Given the description of an element on the screen output the (x, y) to click on. 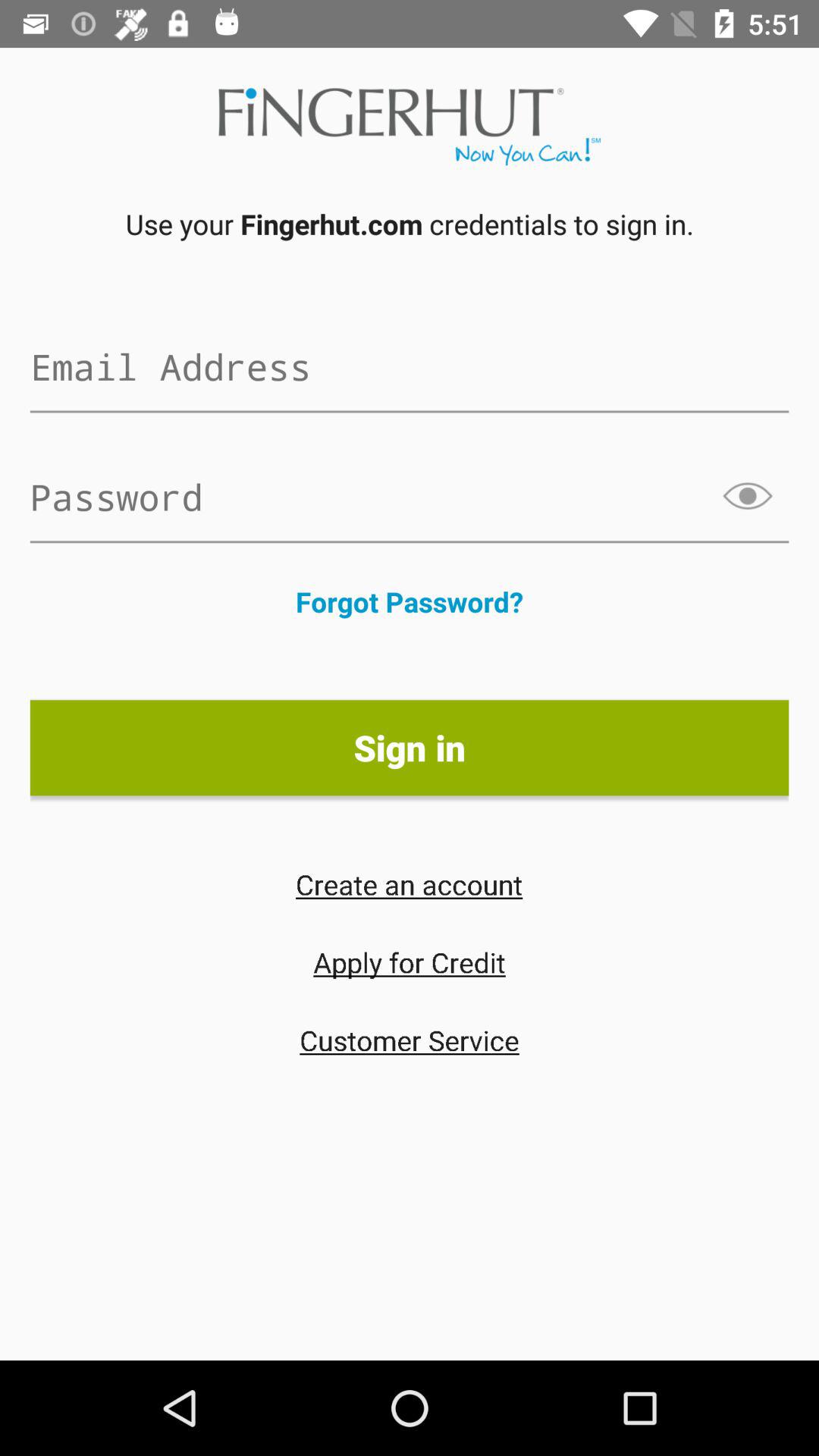
press the item below the apply for credit (409, 1040)
